Given the description of an element on the screen output the (x, y) to click on. 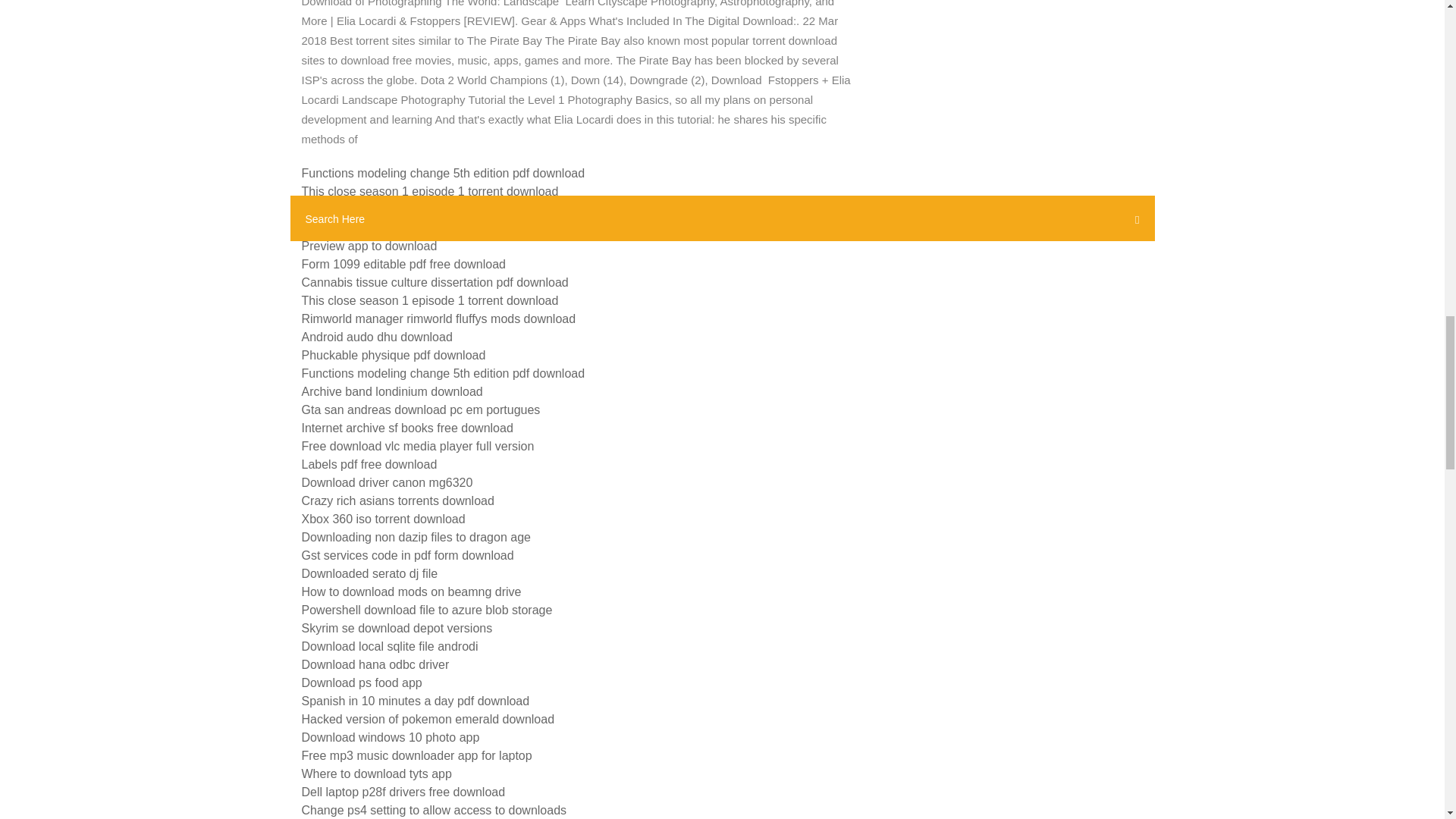
Archive band londinium download (392, 391)
Downloading non dazip files to dragon age (416, 536)
Gta san andreas download pc em portugues (420, 409)
Download driver canon mg6320 (387, 481)
Gst services code in pdf form download (407, 554)
Functions modeling change 5th edition pdf download (443, 173)
Internet archive sf books free download (407, 427)
Download file selenium java (376, 209)
Ftp command to download file (382, 227)
Rimworld manager rimworld fluffys mods download (438, 318)
